Given the description of an element on the screen output the (x, y) to click on. 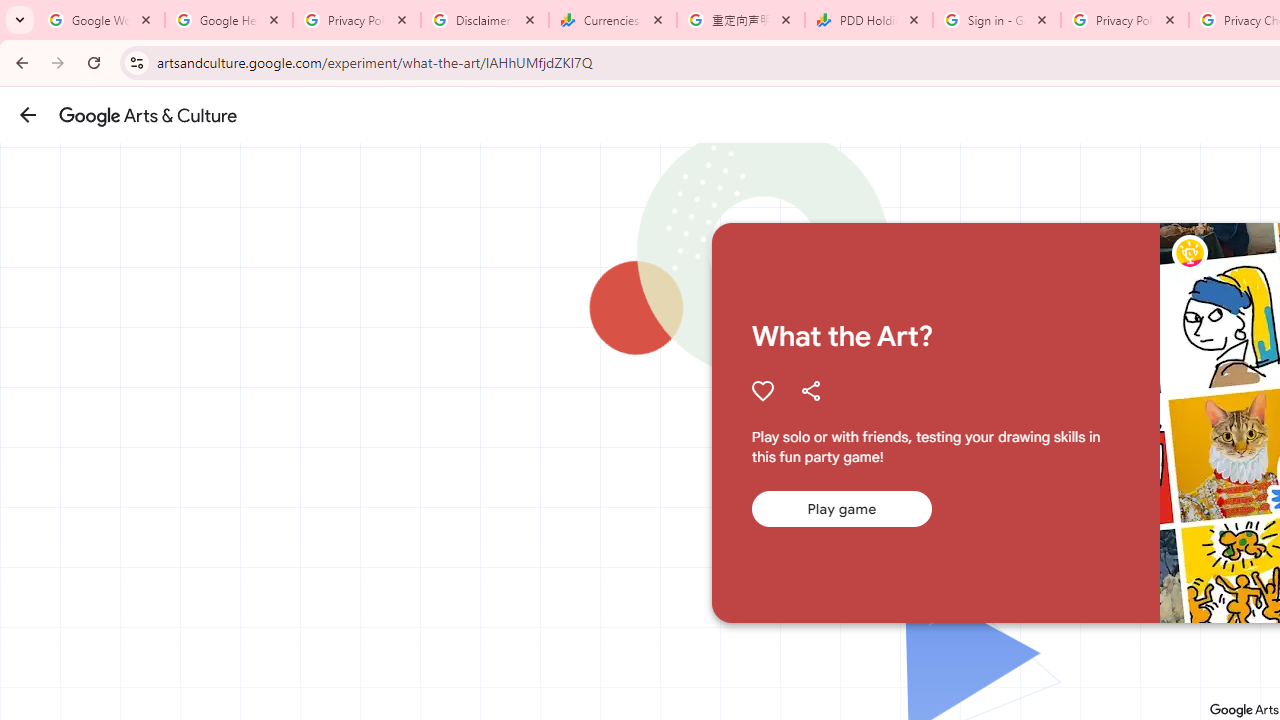
System (10, 11)
Back (19, 62)
System (10, 11)
Forward (57, 62)
Google Workspace Admin Community (101, 20)
Search tabs (20, 20)
PDD Holdings Inc - ADR (PDD) Price & News - Google Finance (869, 20)
Sign in - Google Accounts (997, 20)
Currencies - Google Finance (613, 20)
Share "What the Art?" (809, 390)
View site information (136, 62)
Reload (93, 62)
